Given the description of an element on the screen output the (x, y) to click on. 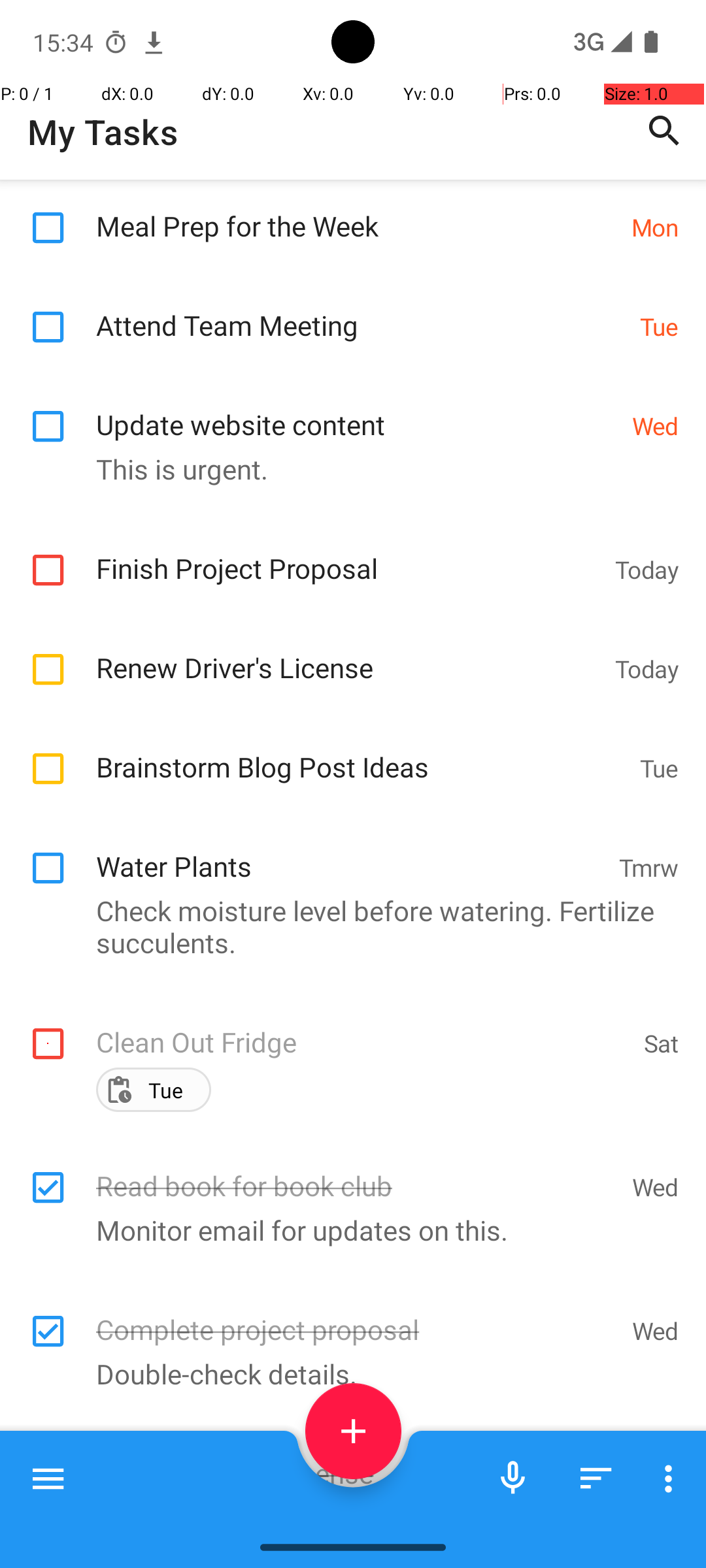
Update website content Element type: android.widget.TextView (357, 968)
This is urgent. Element type: android.widget.TextView (346, 1026)
Read book for book club Element type: android.widget.TextView (357, 1171)
Complete project proposal Element type: android.widget.TextView (357, 1315)
Double-check details. Element type: android.widget.TextView (346, 1373)
